Given the description of an element on the screen output the (x, y) to click on. 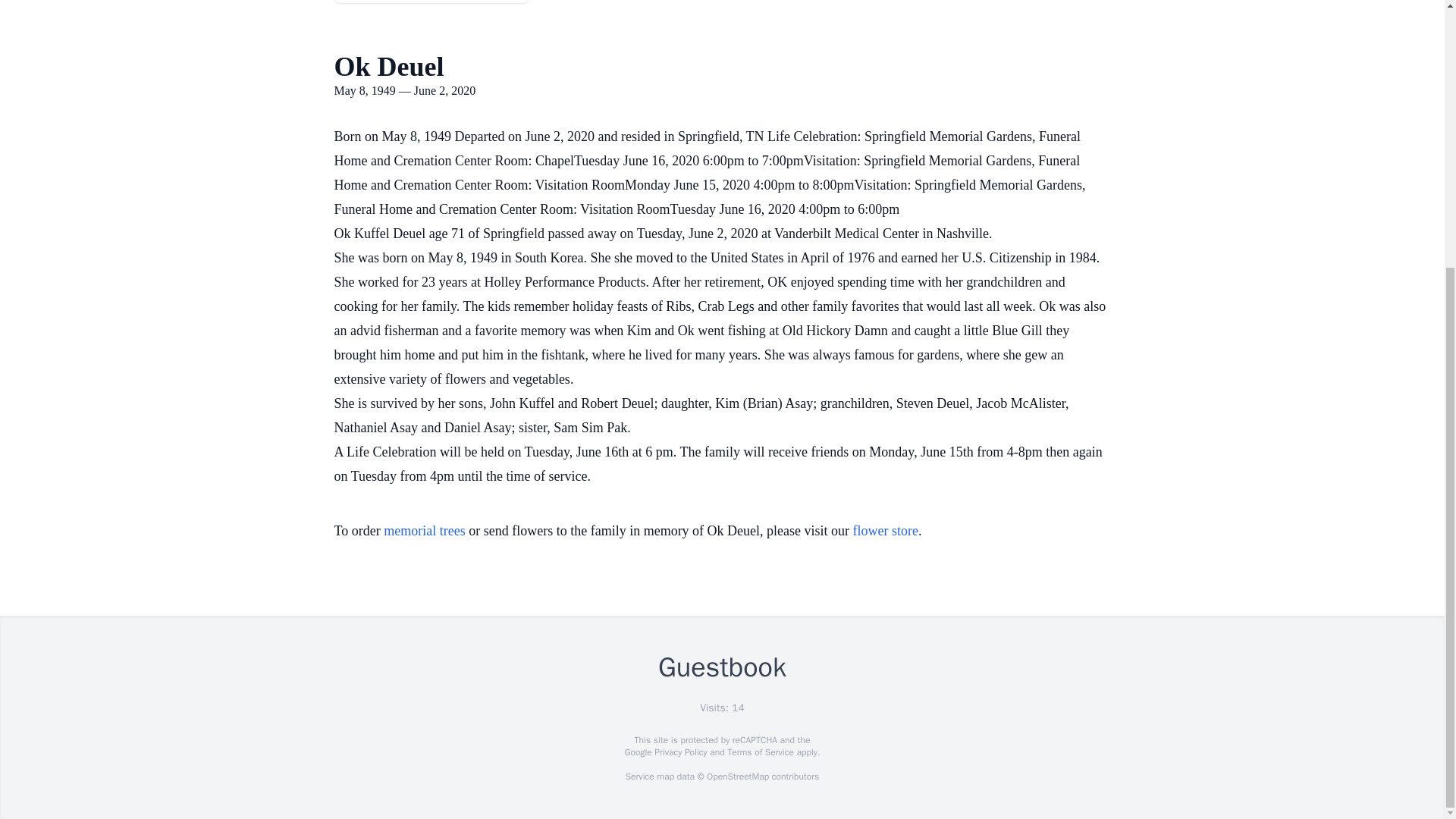
Privacy Policy (679, 752)
memorial trees (424, 530)
Terms of Service (759, 752)
flower store (885, 530)
OpenStreetMap (737, 776)
